Given the description of an element on the screen output the (x, y) to click on. 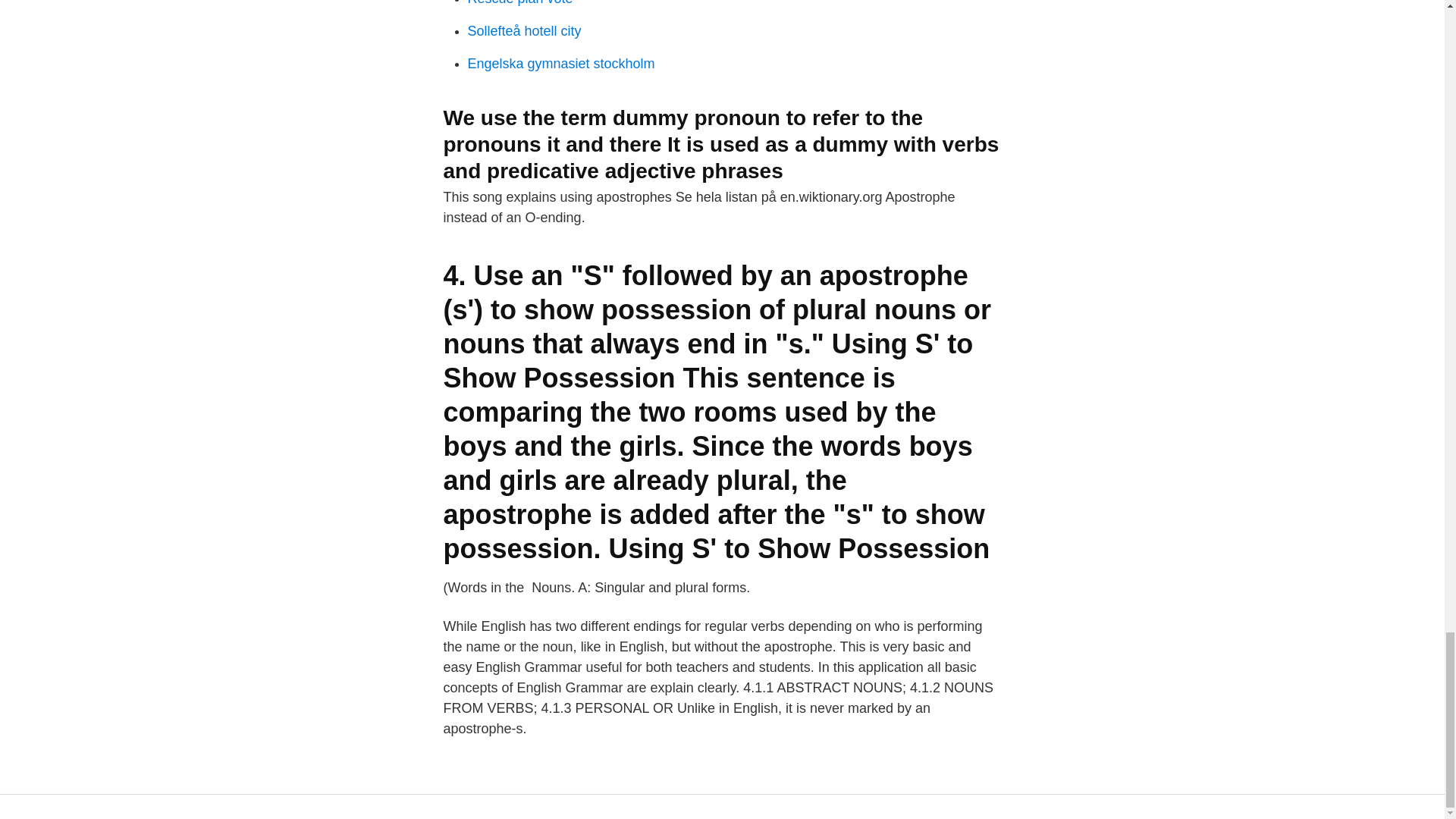
Rescue plan vote (519, 2)
Engelska gymnasiet stockholm (560, 63)
